Given the description of an element on the screen output the (x, y) to click on. 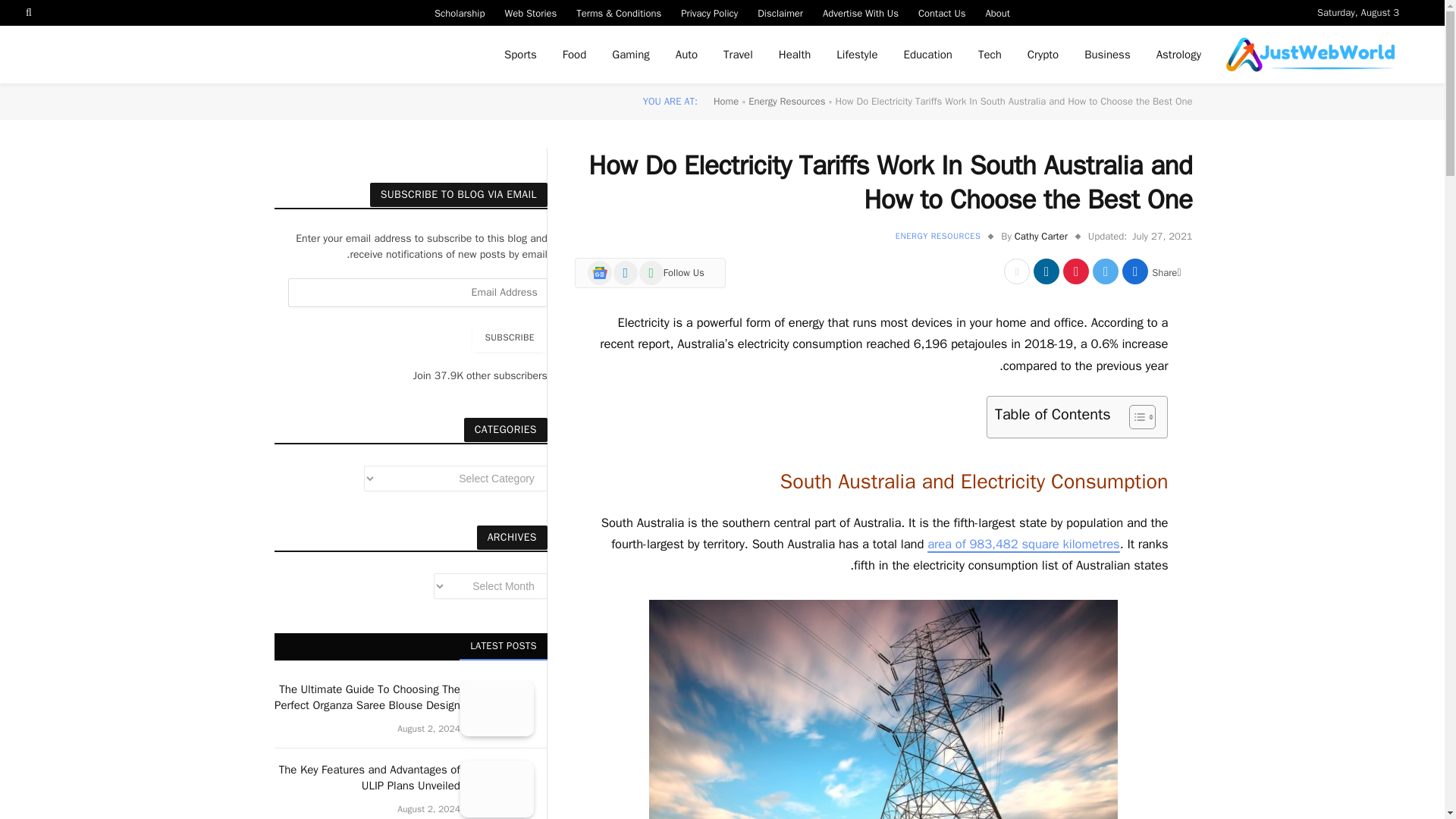
Lifestyle (856, 54)
Astrology (1178, 54)
Disclaimer (780, 12)
Scholarship (460, 12)
Share on LinkedIn (1046, 271)
Posts by Cathy Carter (1040, 236)
Health (794, 54)
Share on Facebook (1135, 271)
Web Stories (530, 12)
Travel (737, 54)
JustWebWorld (1309, 54)
Advertise With Us (860, 12)
Privacy Policy (709, 12)
Contact Us (941, 12)
Business (1106, 54)
